Given the description of an element on the screen output the (x, y) to click on. 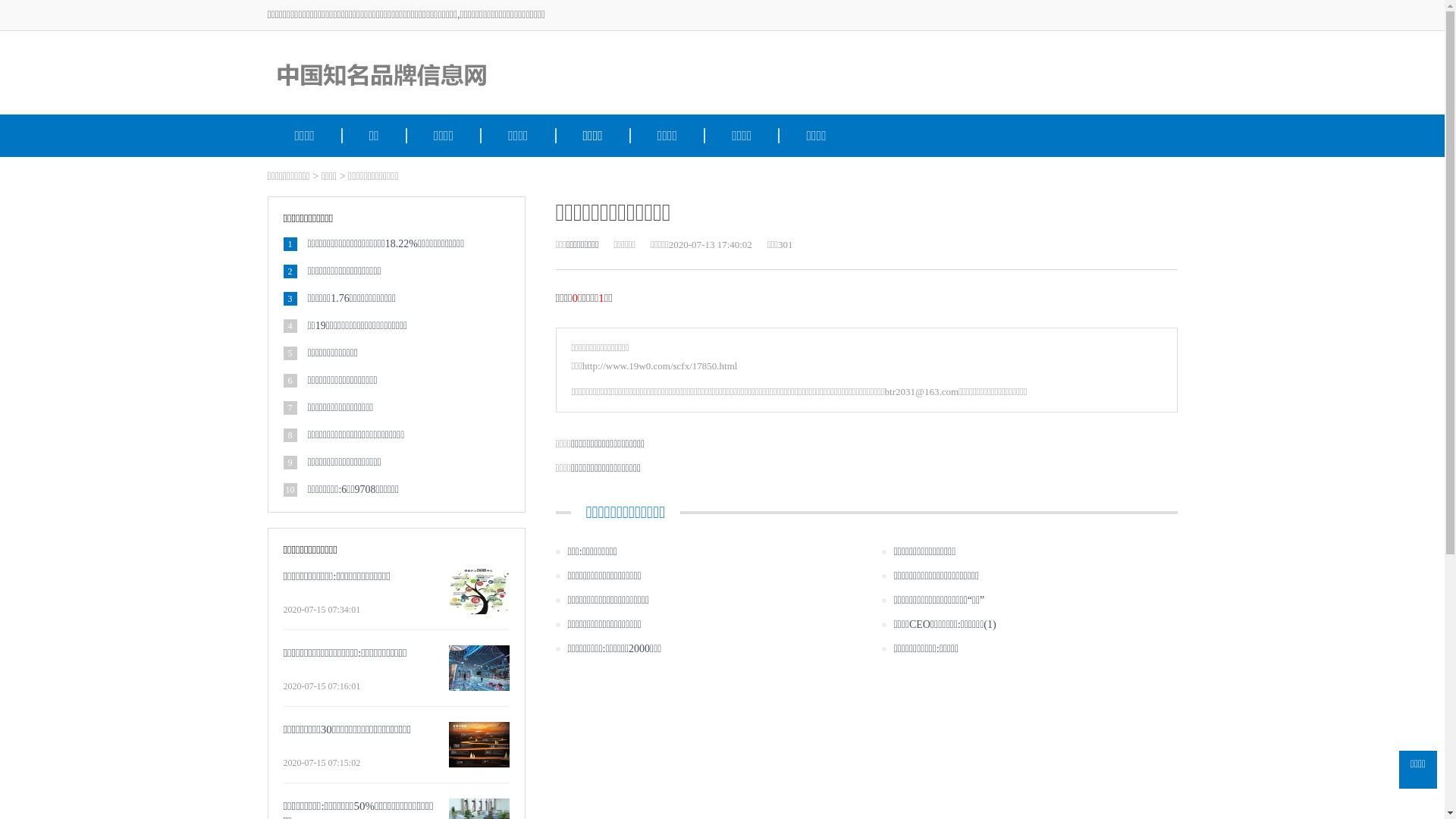
2020-07-15 07:34:01 Element type: text (358, 609)
2020-07-15 07:16:01 Element type: text (358, 685)
2020-07-15 07:15:02 Element type: text (358, 762)
